Given the description of an element on the screen output the (x, y) to click on. 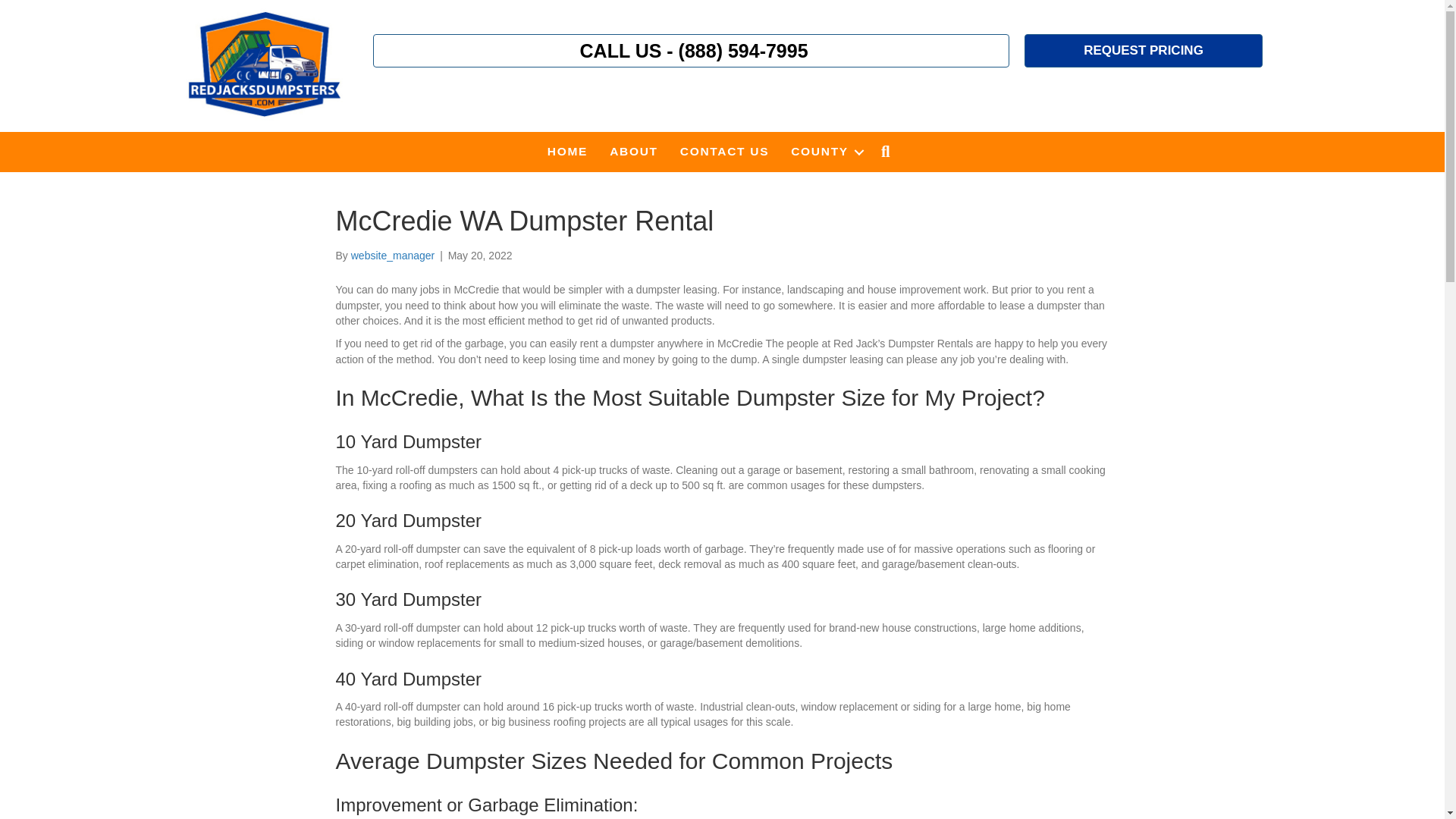
ABOUT (633, 151)
CONTACT US (723, 151)
HOME (567, 151)
logo-png (264, 63)
COUNTY (824, 151)
SEARCH (888, 151)
REQUEST PRICING (1144, 50)
